Given the description of an element on the screen output the (x, y) to click on. 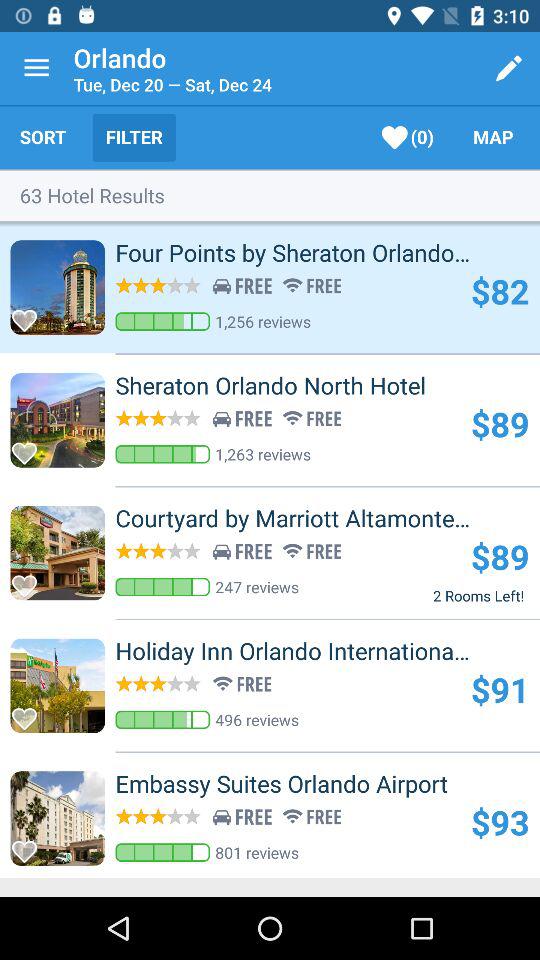
select icon above 63 hotel results item (42, 137)
